Given the description of an element on the screen output the (x, y) to click on. 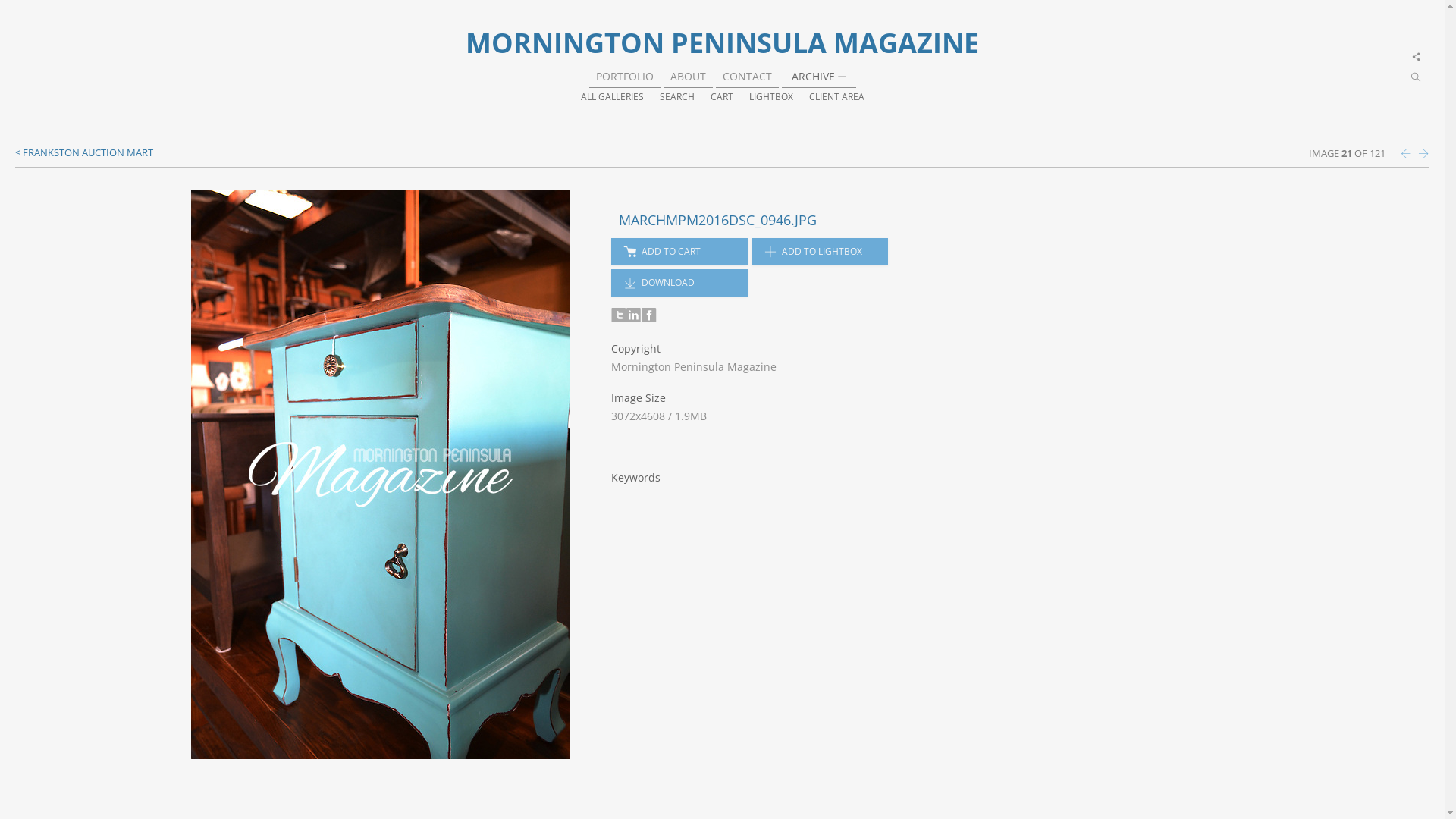
CONTACT Element type: text (746, 76)
CLIENT AREA Element type: text (835, 96)
LIGHTBOX Element type: text (771, 96)
MORNINGTON PENINSULA MAGAZINE Element type: text (722, 42)
ALL GALLERIES Element type: text (611, 96)
SEARCH Element type: text (676, 96)
ADD TO CART Element type: text (679, 251)
x Element type: text (1416, 57)
PORTFOLIO Element type: text (624, 76)
FRANKSTON AUCTION MART Element type: text (84, 152)
ADD TO LIGHTBOX Element type: text (819, 251)
CART Element type: text (720, 96)
ABOUT Element type: text (688, 76)
DOWNLOAD Element type: text (679, 282)
